Given the description of an element on the screen output the (x, y) to click on. 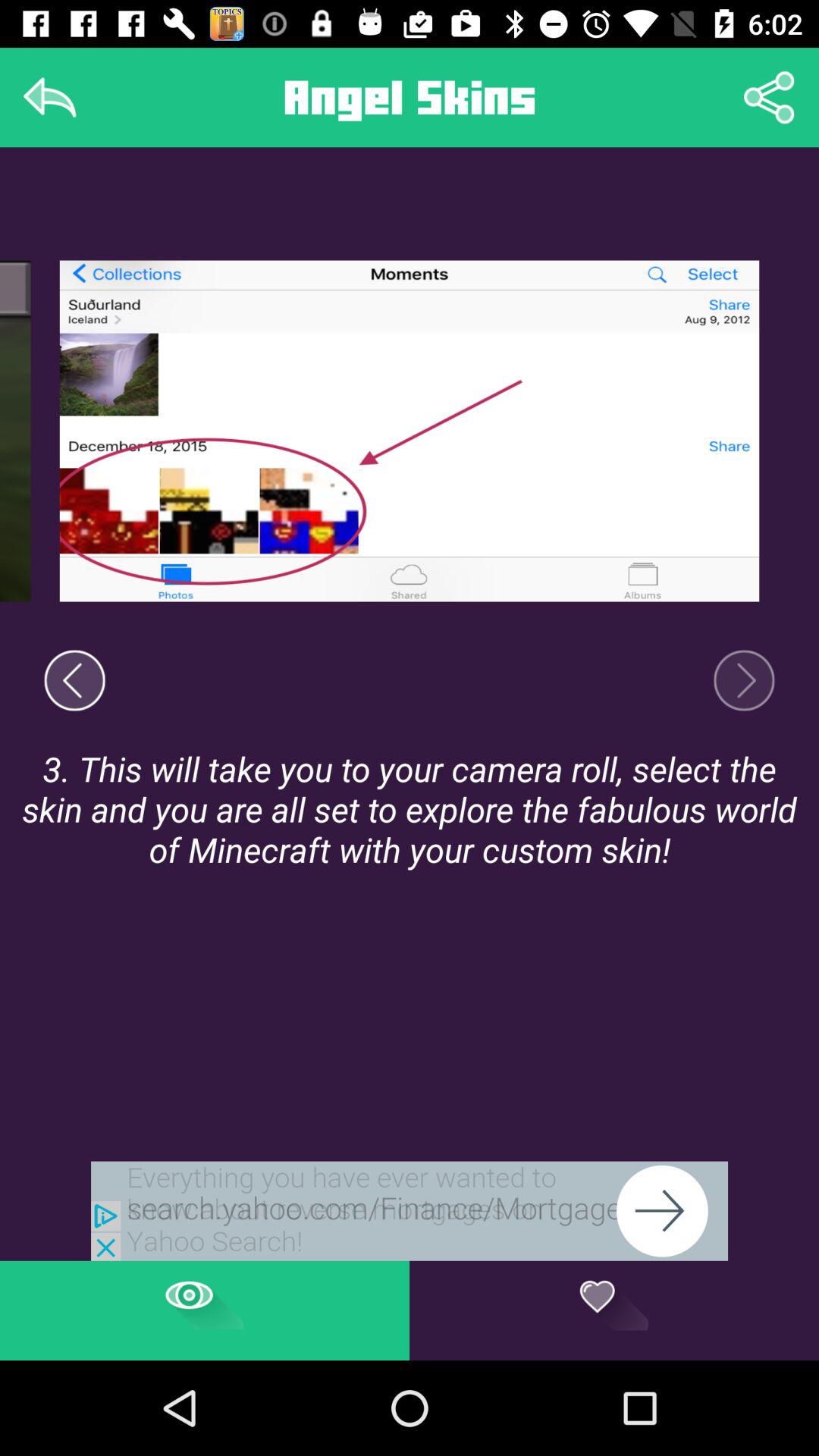
return to a previous screen (74, 680)
